Given the description of an element on the screen output the (x, y) to click on. 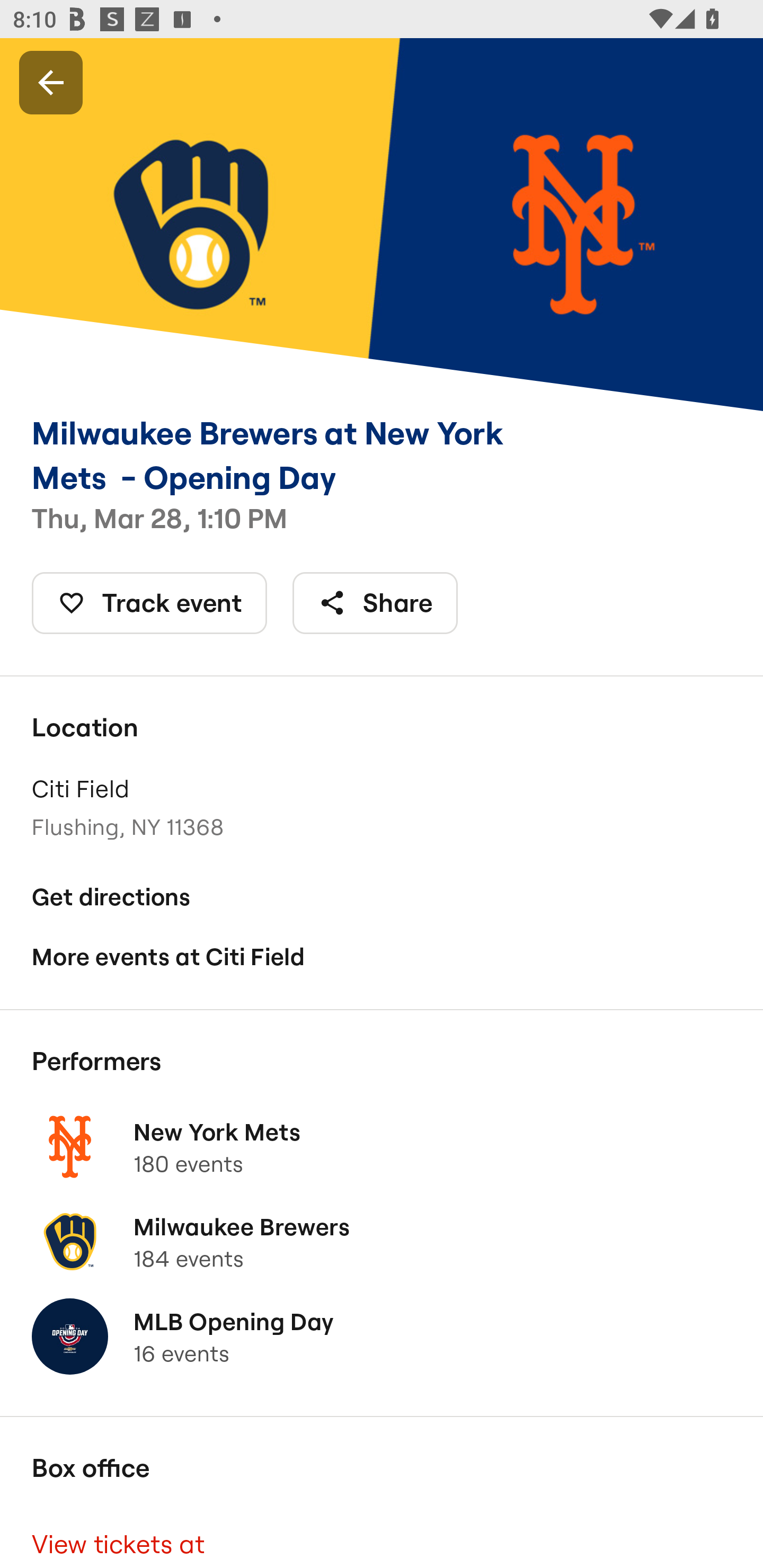
Back (50, 81)
Track event (149, 602)
Share (374, 602)
Get directions (381, 896)
More events at Citi Field (381, 956)
New York Mets 180 events (381, 1146)
Milwaukee Brewers 184 events (381, 1241)
MLB Opening Day 16 events (381, 1336)
View tickets at  (381, 1537)
